Given the description of an element on the screen output the (x, y) to click on. 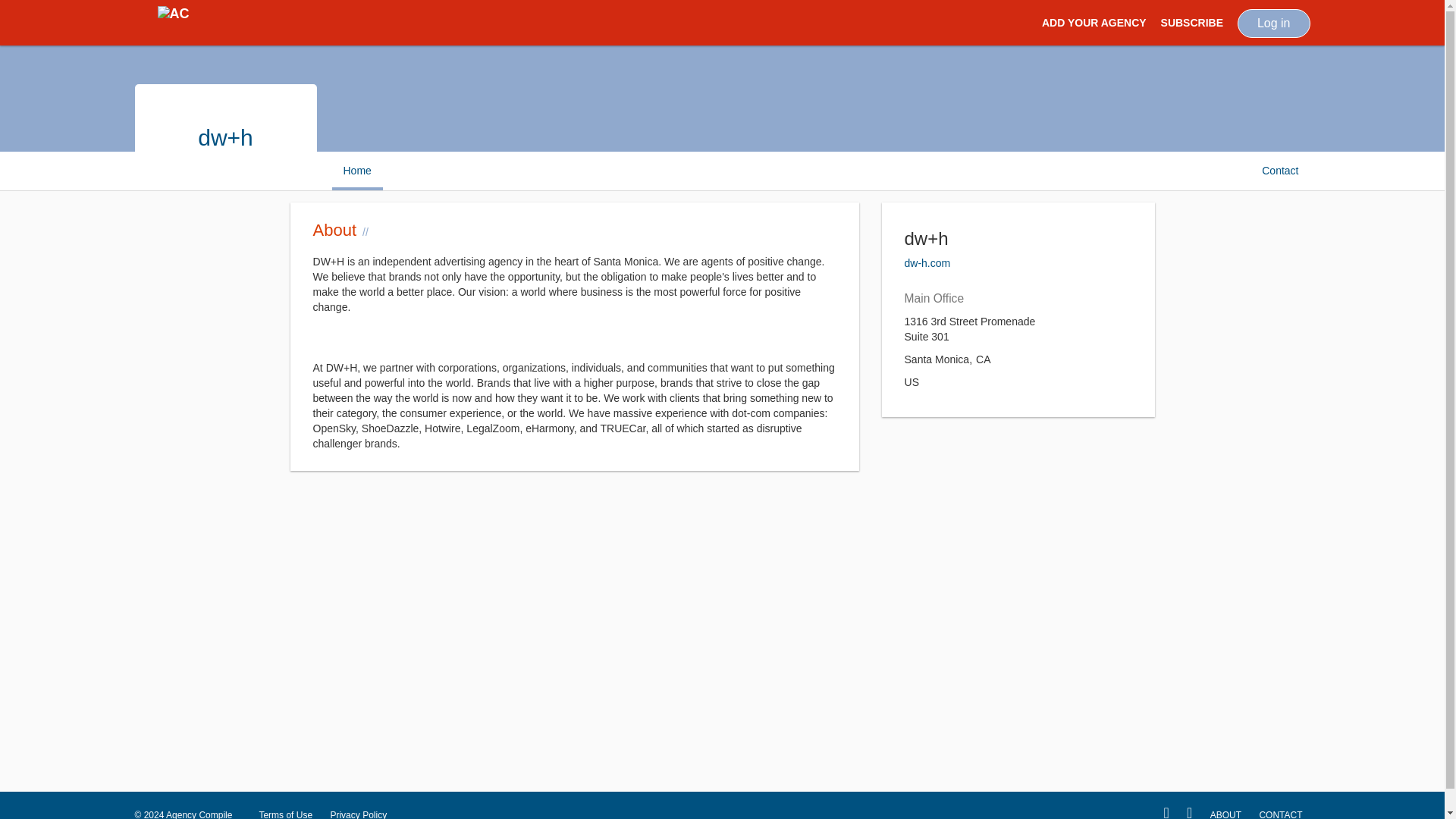
ABOUT (1225, 809)
CONTACT (1279, 809)
Home (356, 170)
Privacy Policy (357, 809)
SUBSCRIBE (1191, 22)
Contact (1279, 170)
Log in (1273, 23)
Terms of Use (285, 809)
dw-h.com (927, 263)
ADD YOUR AGENCY (1094, 22)
